Given the description of an element on the screen output the (x, y) to click on. 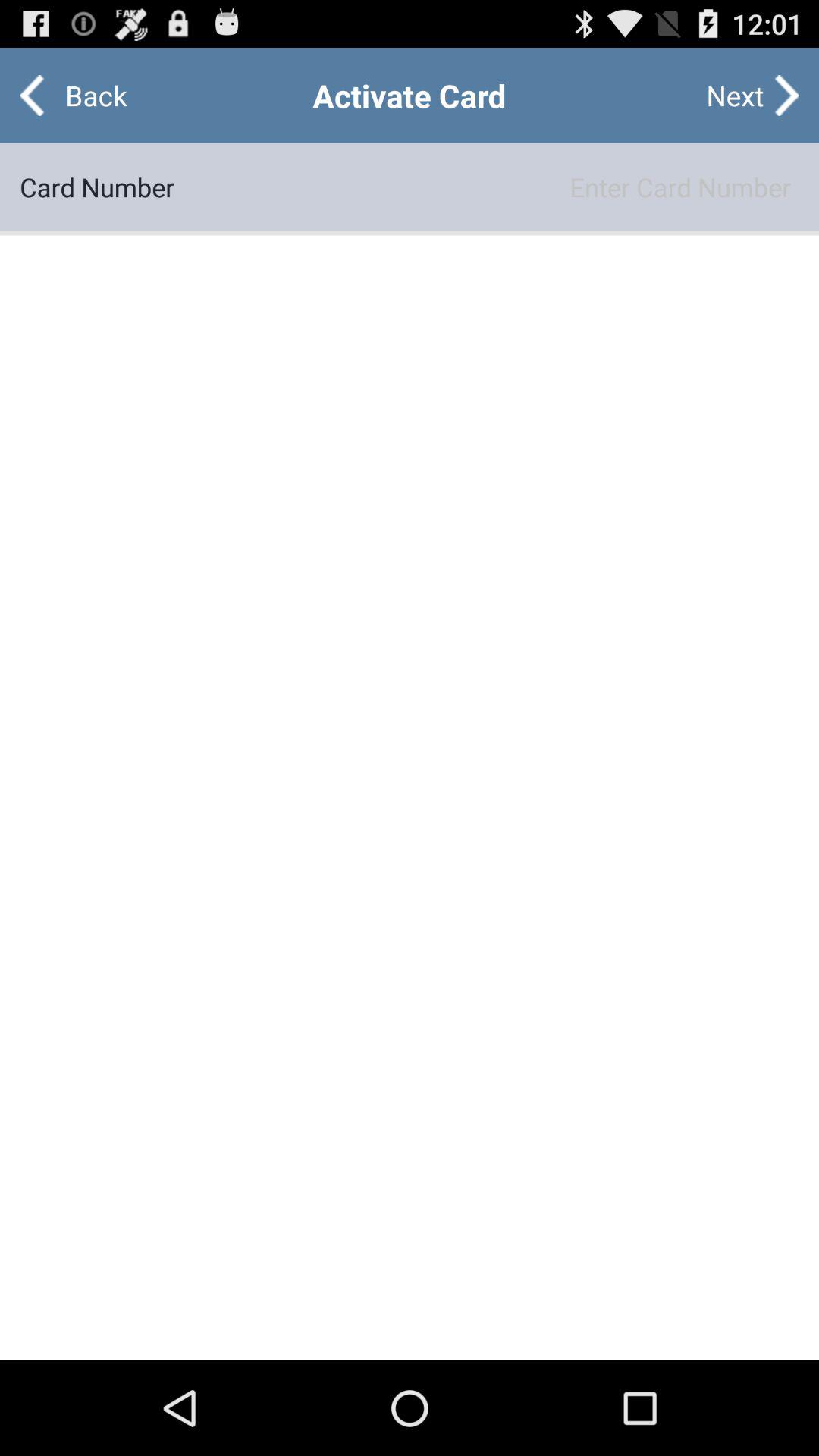
turn on app next to the card number item (486, 186)
